Given the description of an element on the screen output the (x, y) to click on. 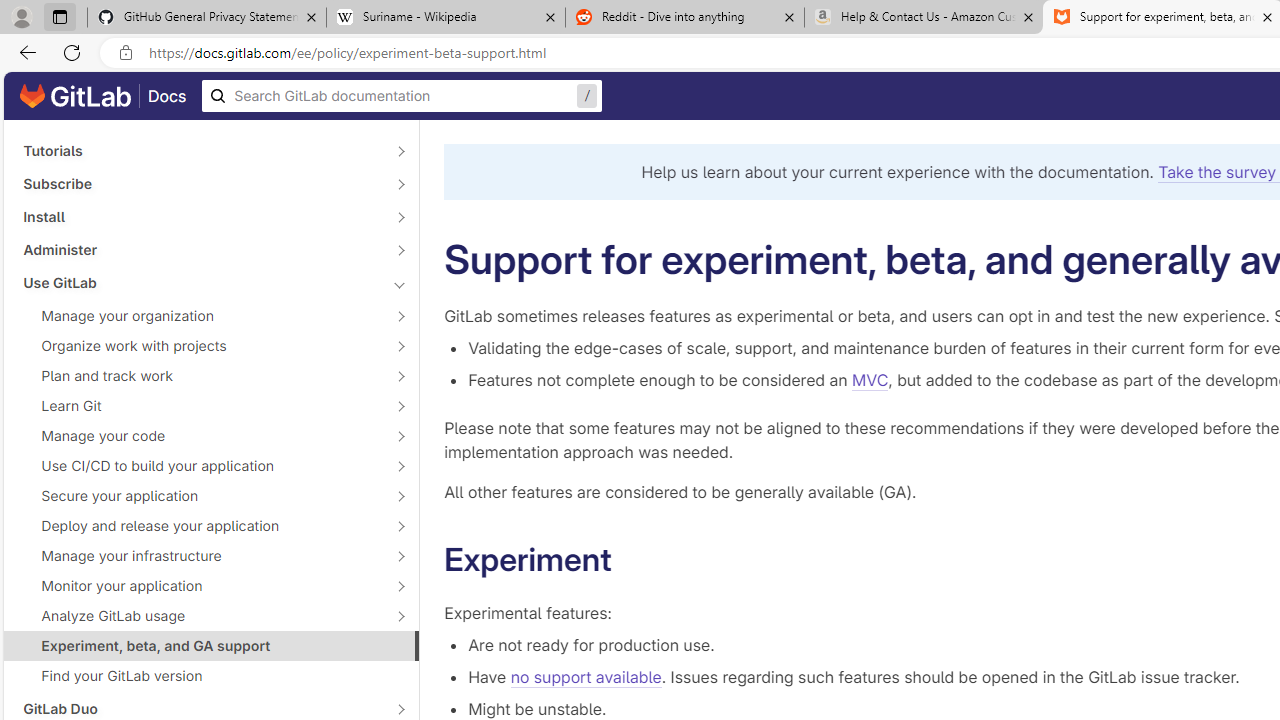
Monitor your application (199, 585)
Manage your code (199, 435)
GitHub General Privacy Statement - GitHub Docs (207, 17)
Experiment, beta, and GA support (211, 645)
Use CI/CD to build your application (199, 465)
Organize work with projects (199, 345)
Learn Git (199, 405)
GitLab documentation home Docs (103, 96)
GitLab documentation home (75, 96)
MVC (870, 380)
Manage your organization (199, 315)
